Given the description of an element on the screen output the (x, y) to click on. 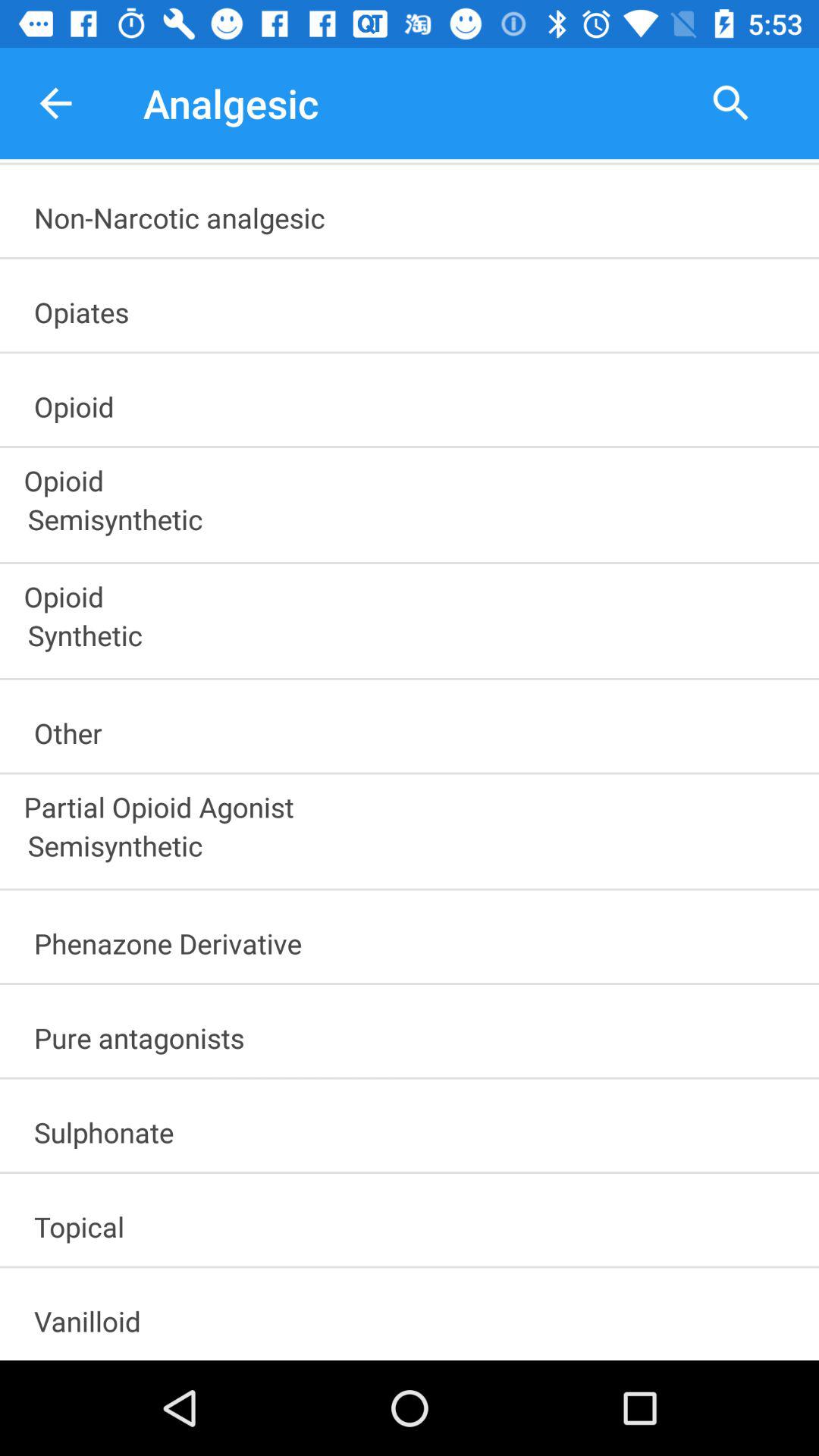
turn off phenazone derivative item (416, 938)
